Given the description of an element on the screen output the (x, y) to click on. 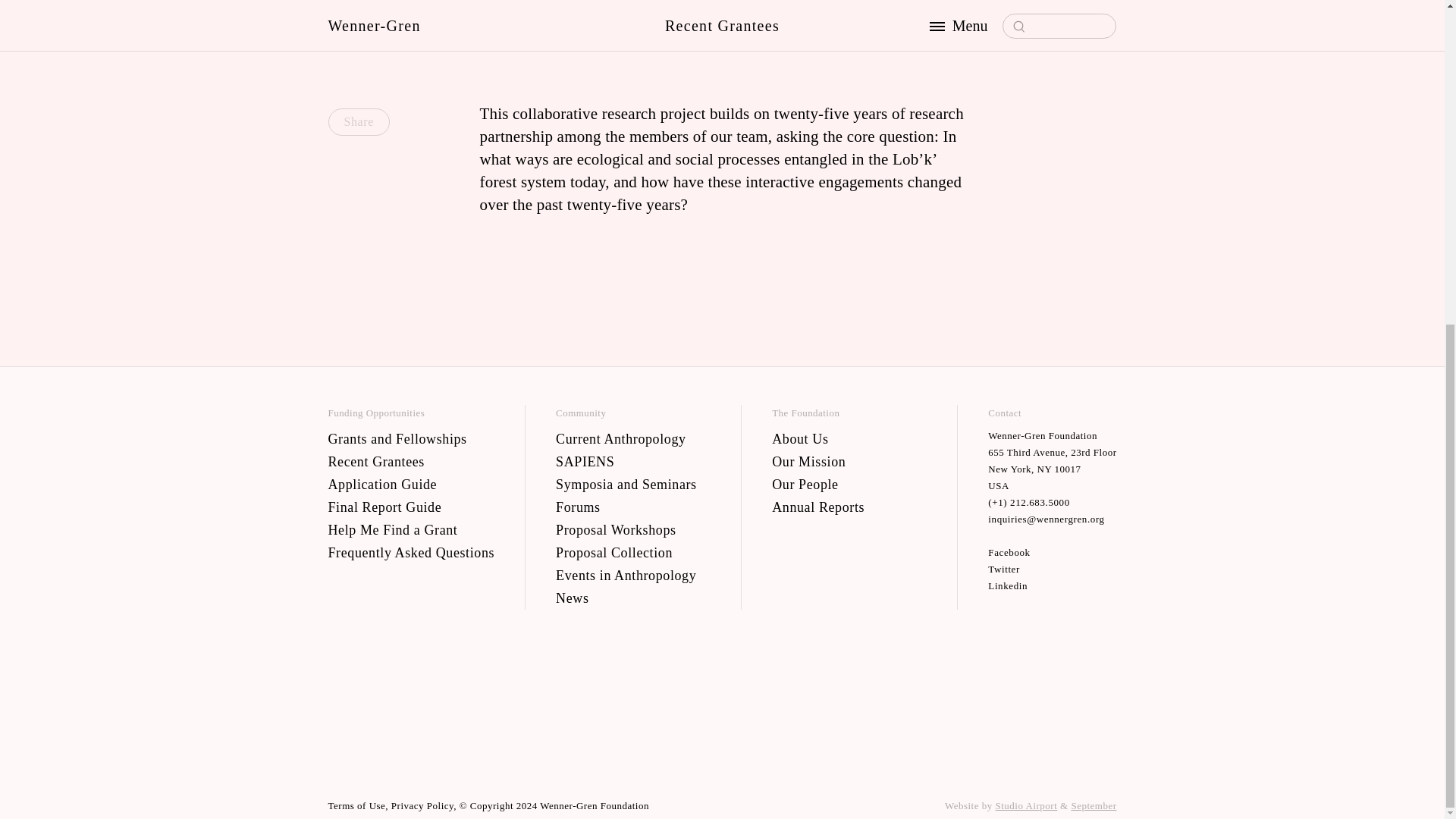
Frequently Asked Questions (411, 551)
Grants and Fellowships (411, 437)
Application Guide (411, 483)
Share (357, 121)
Recent Grantees (411, 460)
SAPIENS (633, 460)
Forums (633, 506)
Help Me Find a Grant (411, 528)
Current Anthropology (633, 437)
twitter (1052, 568)
